Given the description of an element on the screen output the (x, y) to click on. 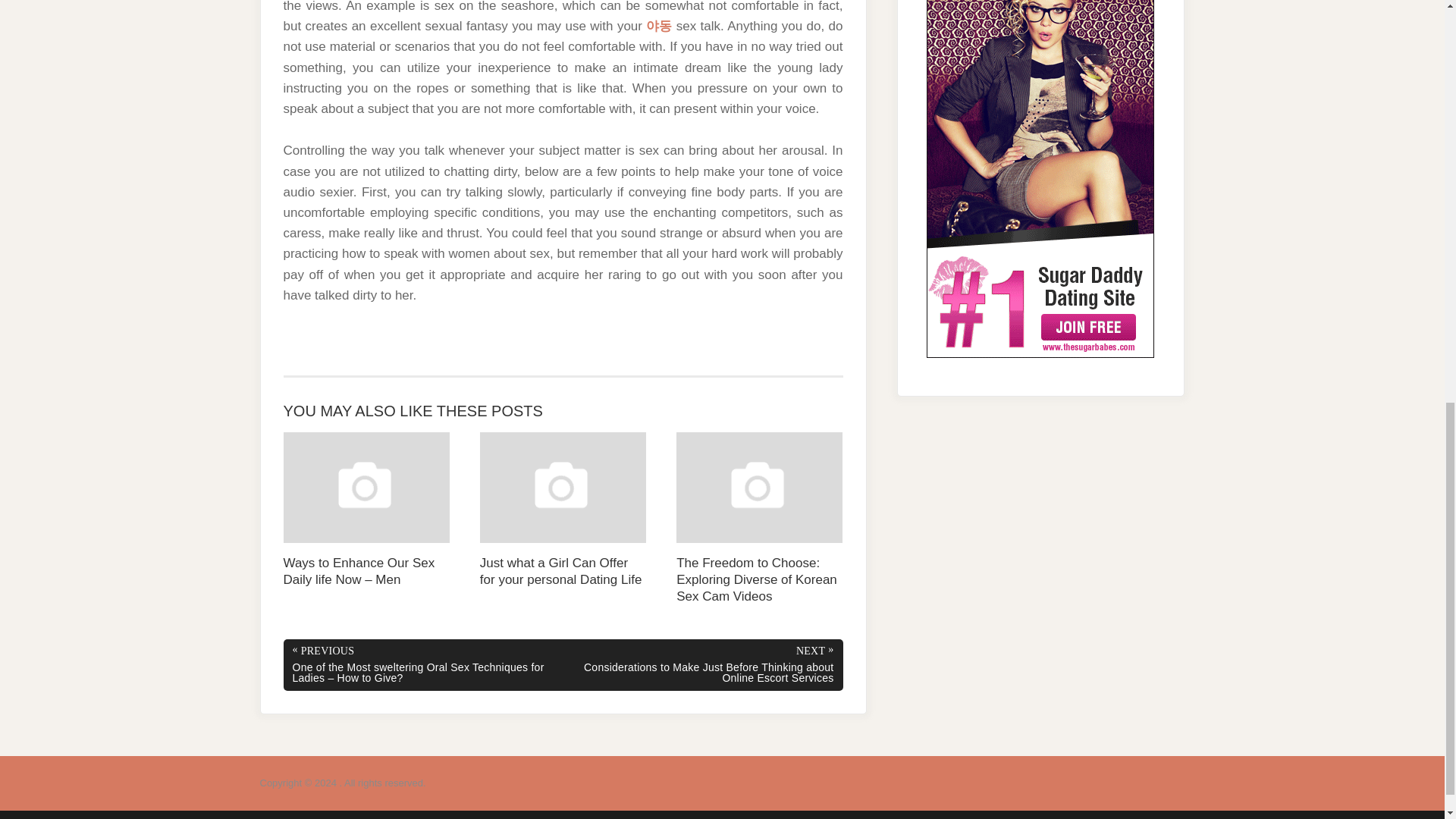
Just what a Girl Can Offer for your personal Dating Life (563, 510)
Just what a Girl Can Offer for your personal Dating Life (563, 510)
